Given the description of an element on the screen output the (x, y) to click on. 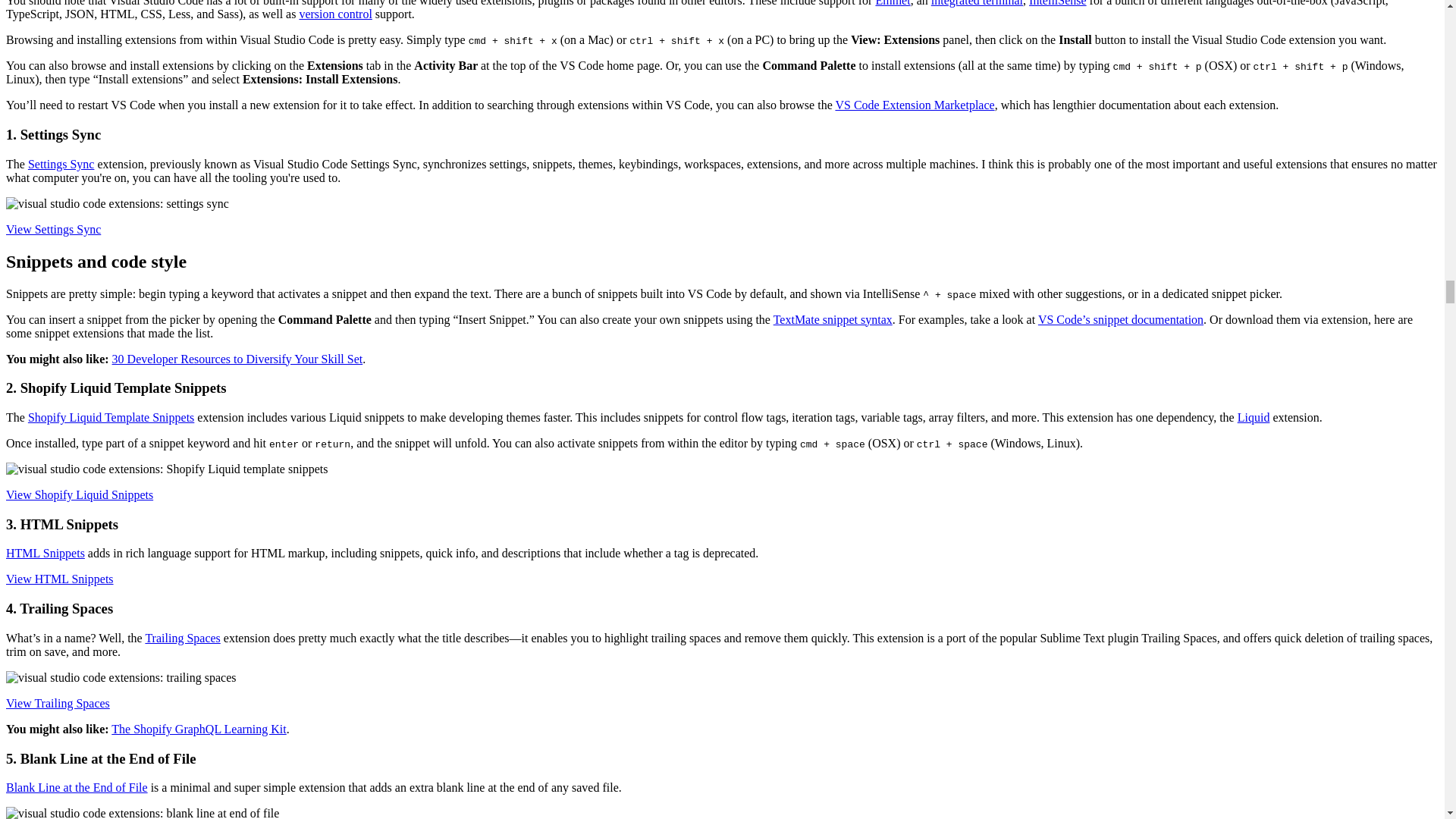
developer resources (237, 358)
